Given the description of an element on the screen output the (x, y) to click on. 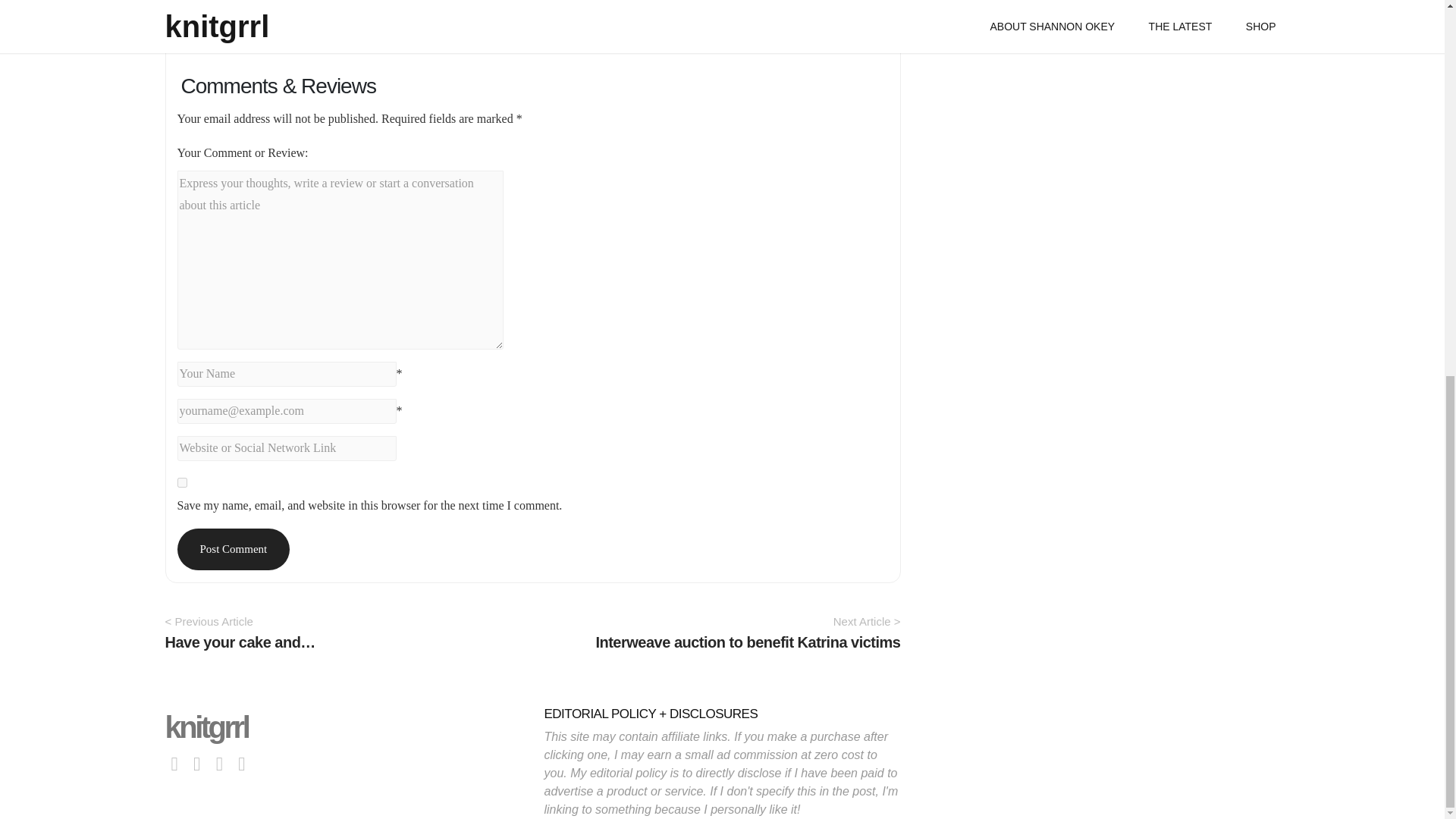
Reply to (214, 19)
knitgrrl (206, 726)
Post Comment (233, 549)
knitgrrl (206, 726)
Interweave auction to benefit Katrina victims (747, 641)
yes (182, 482)
Post Comment (233, 549)
